Given the description of an element on the screen output the (x, y) to click on. 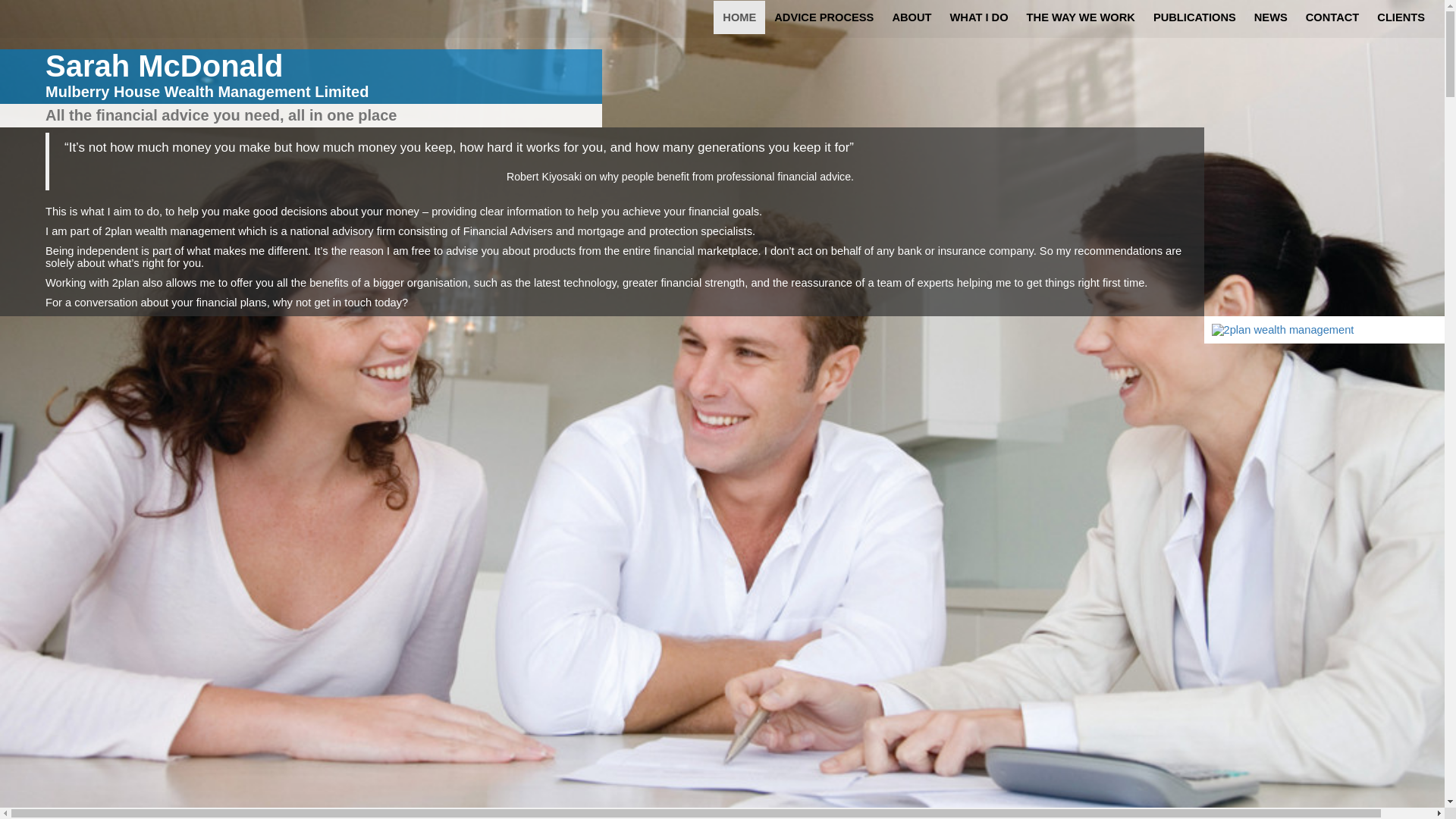
HOME Element type: text (739, 17)
PUBLICATIONS Element type: text (1194, 17)
THE WAY WE WORK Element type: text (1080, 17)
CONTACT Element type: text (1332, 17)
CLIENTS Element type: text (1401, 17)
WHAT I DO Element type: text (979, 17)
ADVICE PROCESS Element type: text (823, 17)
NEWS Element type: text (1270, 17)
ABOUT Element type: text (911, 17)
